Given the description of an element on the screen output the (x, y) to click on. 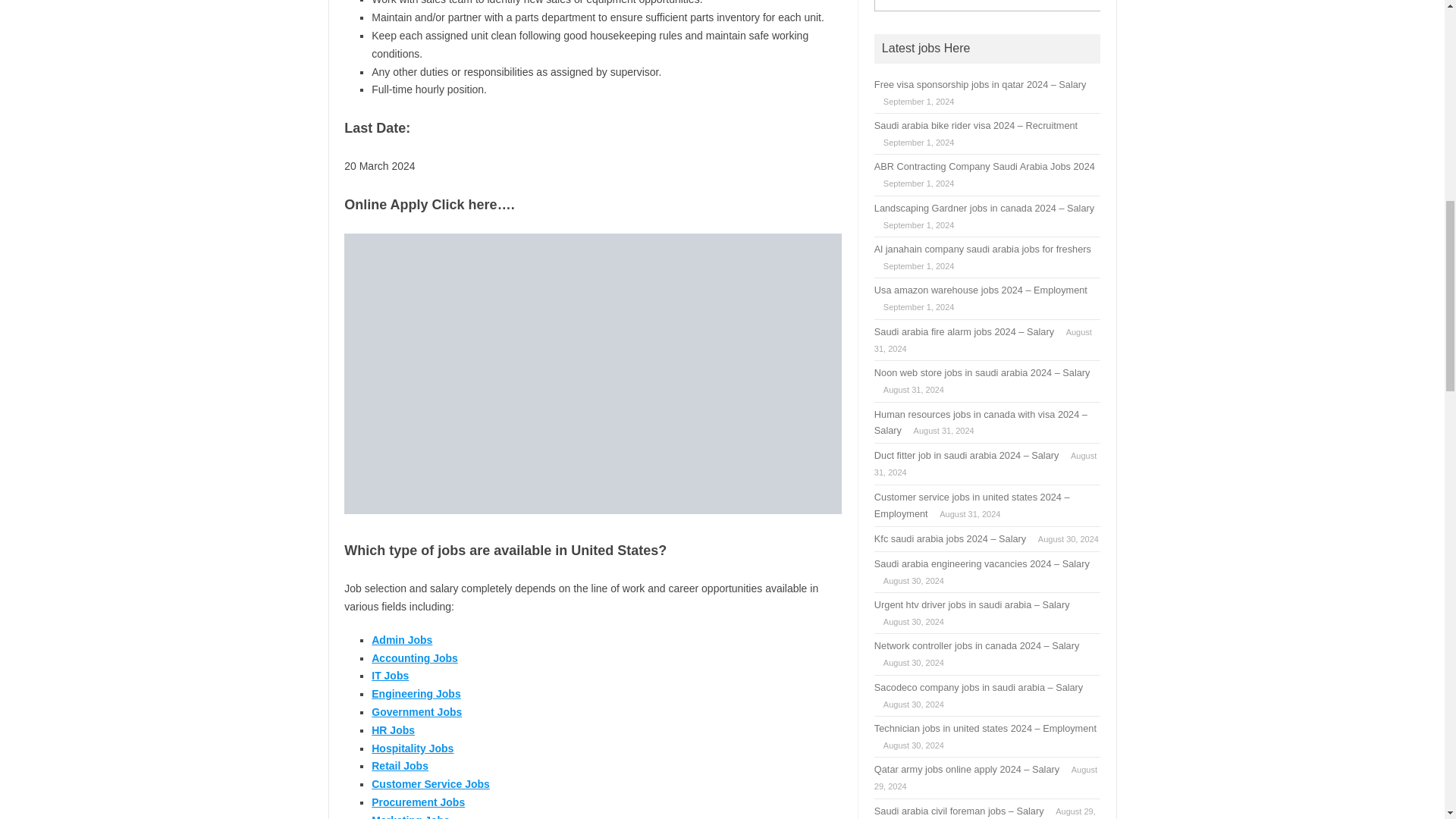
Government Jobs (416, 711)
IT Jobs (390, 675)
Procurement Jobs (417, 802)
Admin Jobs (401, 639)
HR Jobs (392, 729)
Engineering Jobs (415, 693)
Marketing Jobs (410, 816)
Hospitality Jobs (411, 748)
Retail Jobs (399, 766)
Customer Service Jobs (430, 784)
